Given the description of an element on the screen output the (x, y) to click on. 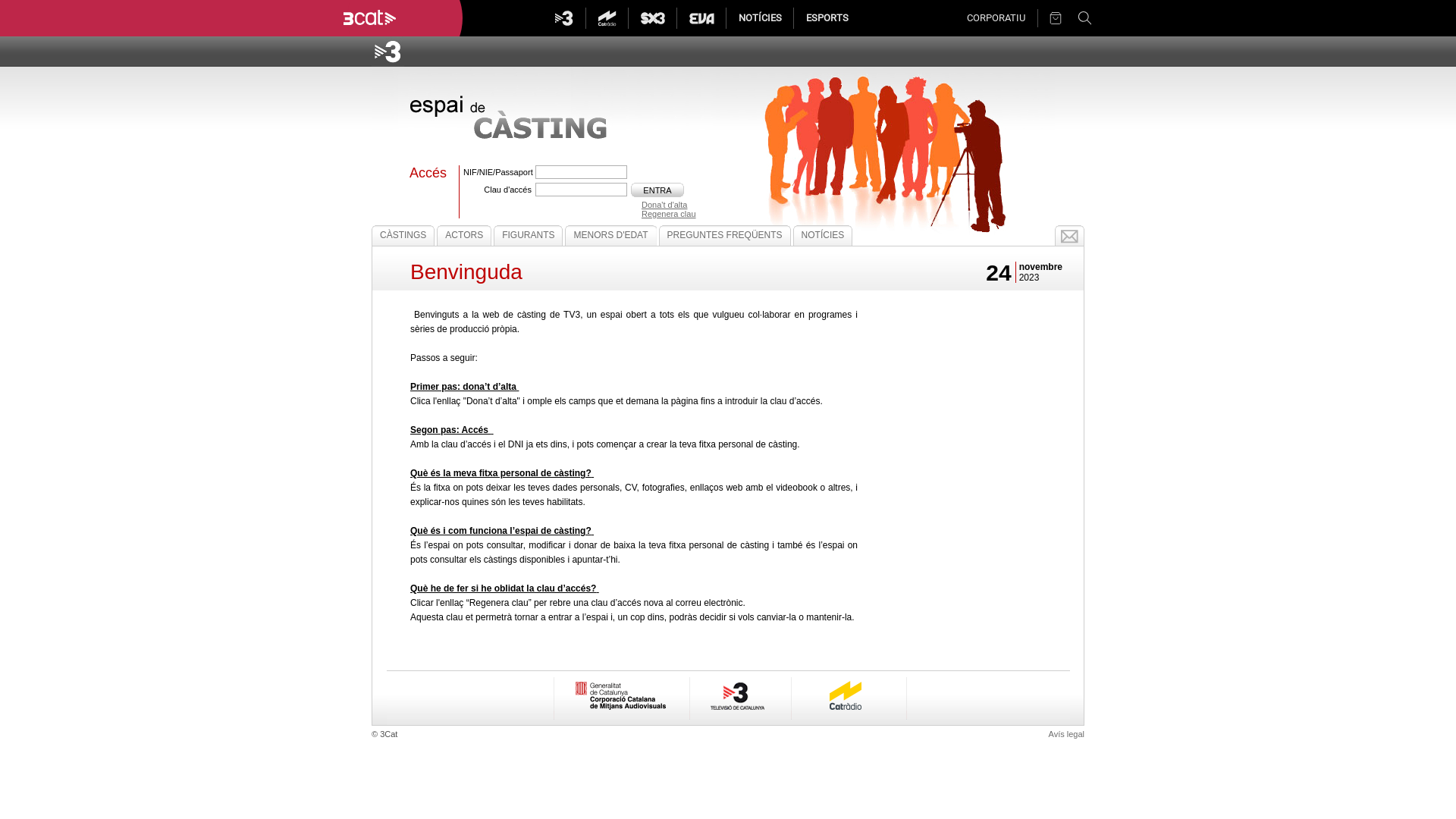
FIGURANTS Element type: text (527, 235)
Contacte Element type: hover (1069, 234)
MENORS D'EDAT Element type: text (610, 235)
Dona't d'alta Element type: text (628, 204)
Regenera clau Element type: text (632, 213)
Entra Element type: text (657, 189)
ACTORS Element type: text (463, 235)
ESPORTS Element type: text (826, 18)
CORPORATIU Element type: text (995, 18)
